Given the description of an element on the screen output the (x, y) to click on. 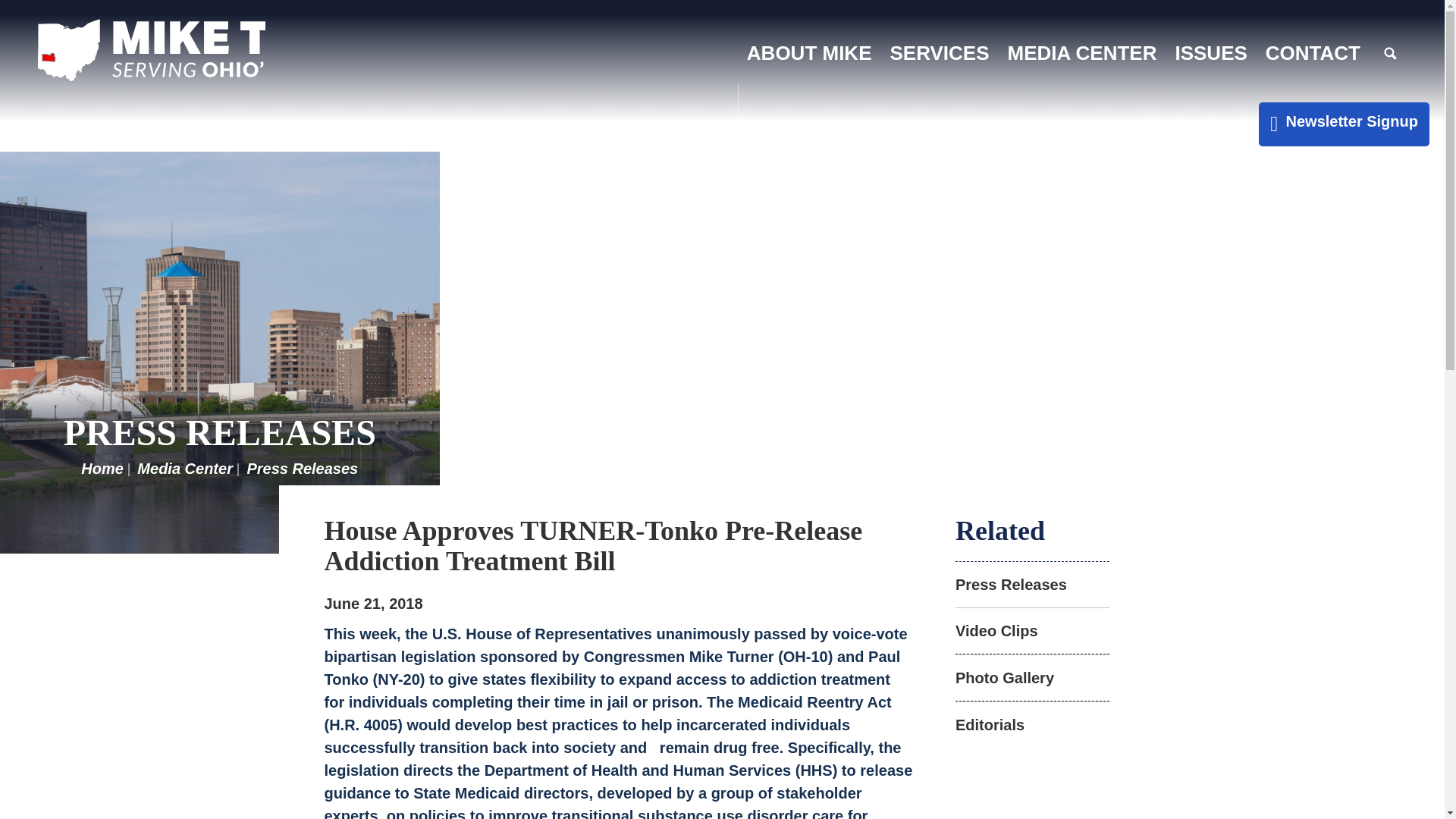
Newsletter Signup (1273, 124)
ABOUT MIKE (809, 52)
Twitter (1182, 125)
YouTube (1243, 125)
ISSUES (1210, 52)
Facebook (1152, 125)
SERVICES (939, 52)
MEDIA CENTER (1082, 52)
CONGRESSMAN MICHAEL TURNER (150, 50)
Instagram (1213, 125)
